Given the description of an element on the screen output the (x, y) to click on. 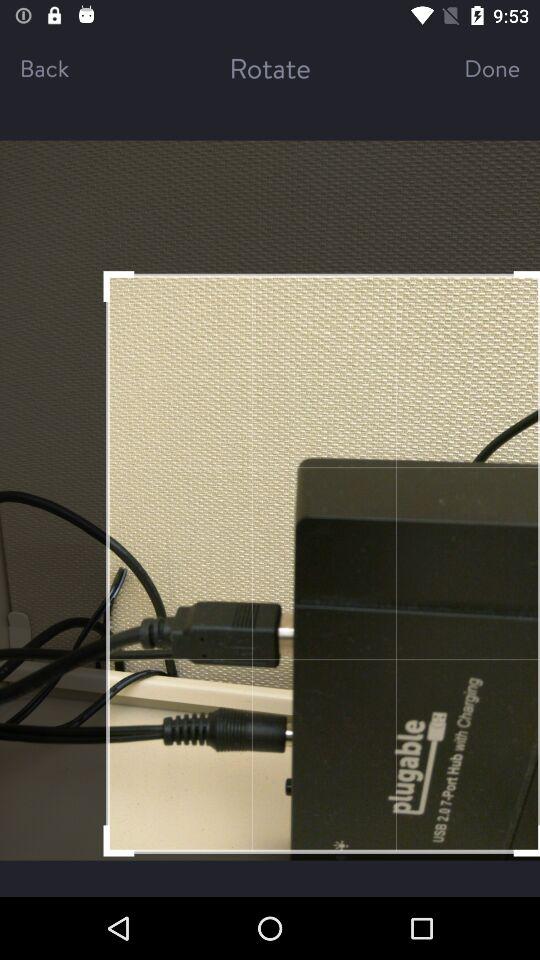
choose icon to the right of the back icon (269, 67)
